Given the description of an element on the screen output the (x, y) to click on. 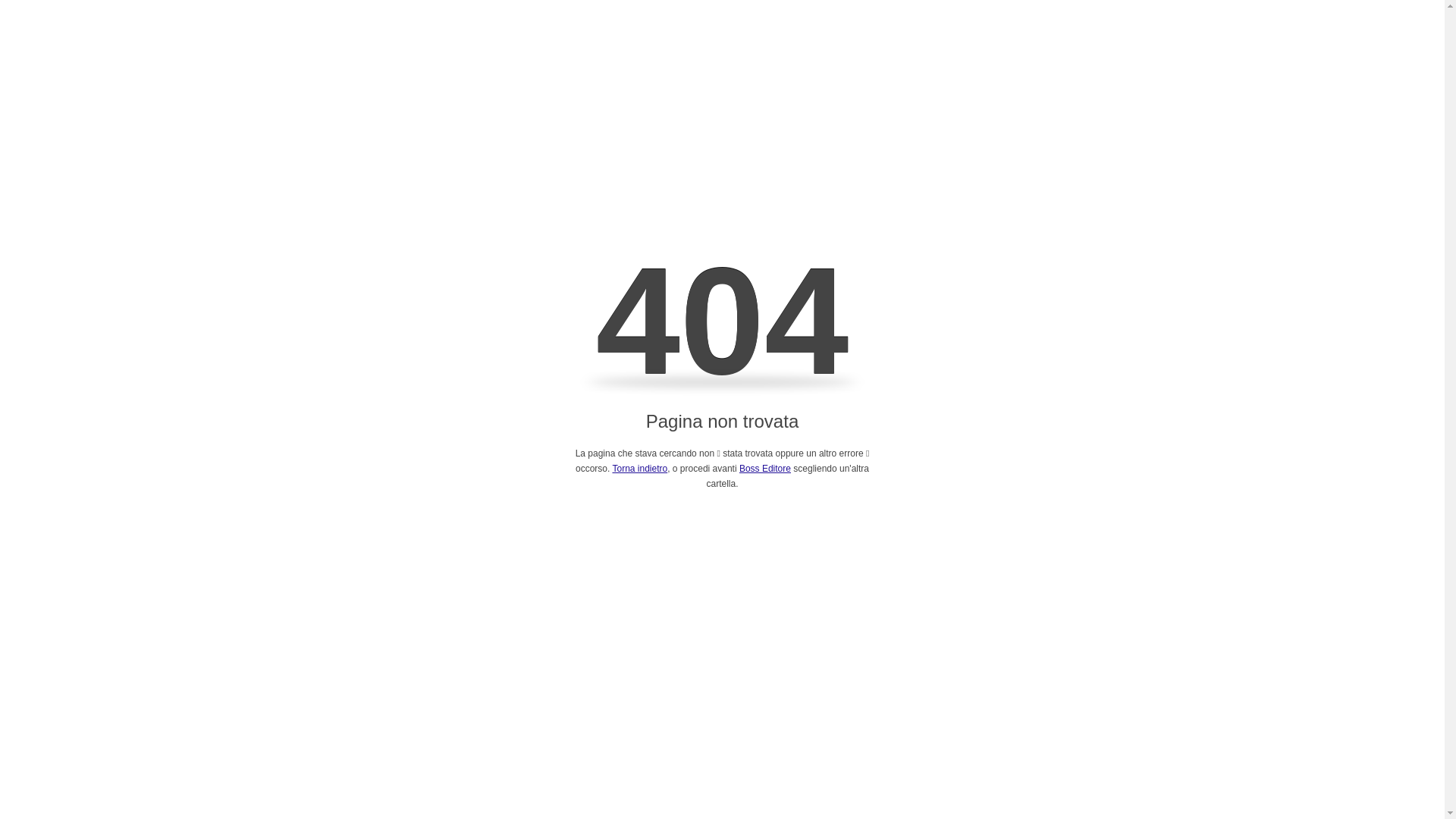
Torna indietro Element type: text (639, 468)
Boss Editore Element type: text (764, 468)
